Given the description of an element on the screen output the (x, y) to click on. 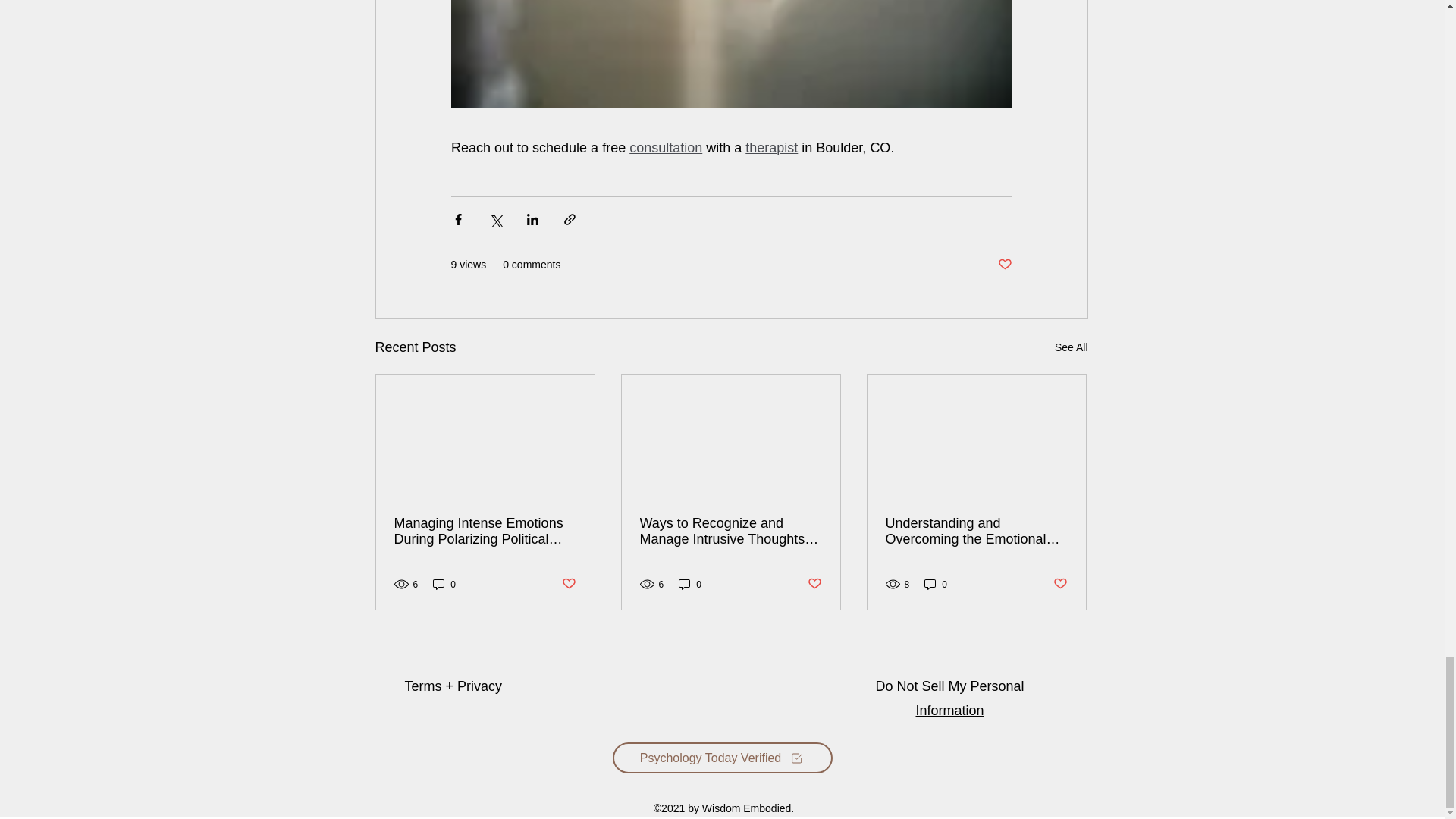
Post not marked as liked (1004, 264)
consultation (664, 147)
0 (936, 584)
See All (1070, 347)
0 (443, 584)
Post not marked as liked (567, 584)
Post not marked as liked (1059, 584)
0 (690, 584)
